Given the description of an element on the screen output the (x, y) to click on. 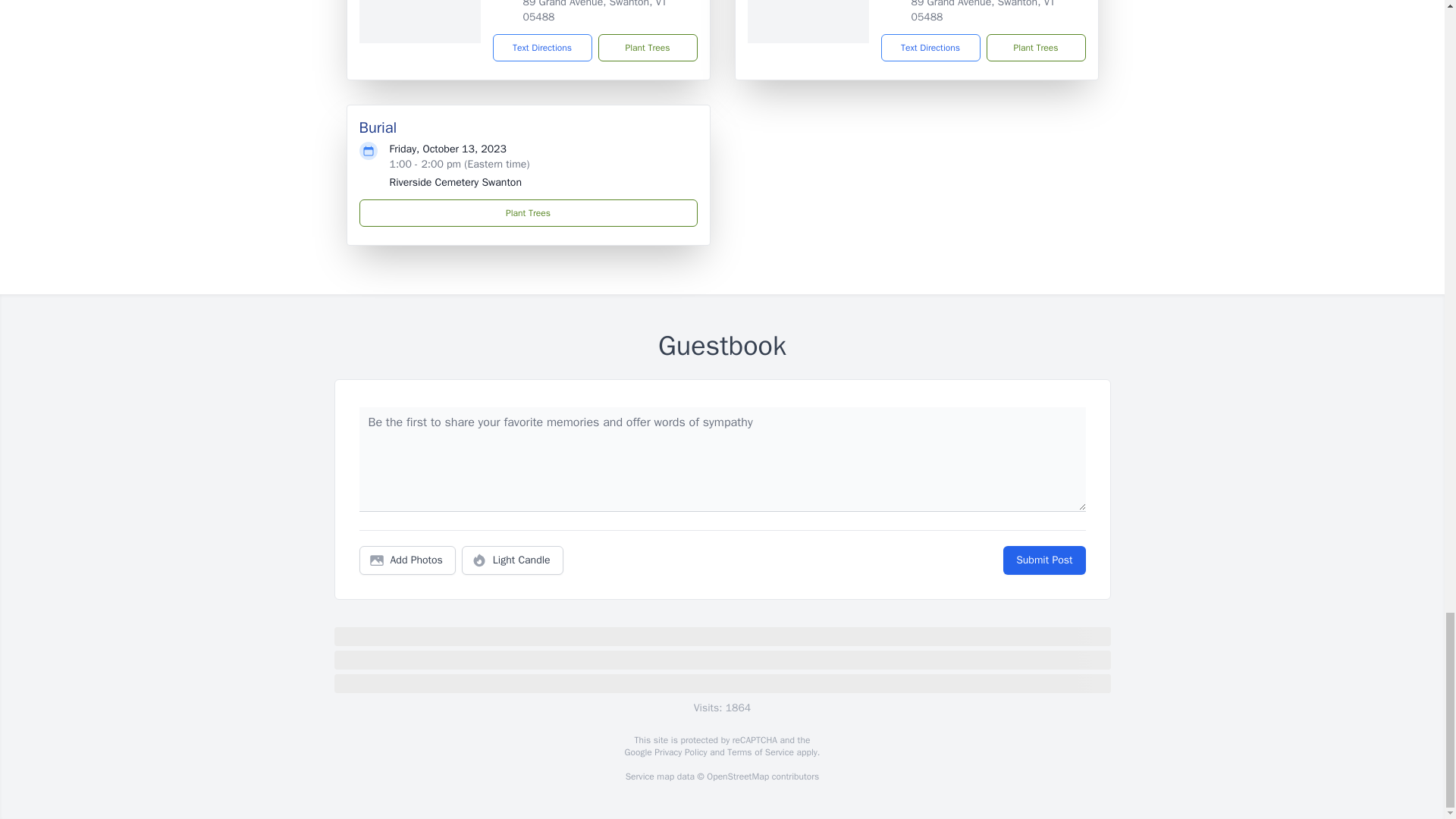
OpenStreetMap (737, 776)
Plant Trees (528, 212)
Submit Post (1043, 560)
Add Photos (407, 560)
Terms of Service (759, 752)
Text Directions (542, 47)
Light Candle (512, 560)
89 Grand Avenue, Swanton, VT 05488 (983, 11)
89 Grand Avenue, Swanton, VT 05488 (594, 11)
Plant Trees (646, 47)
